Given the description of an element on the screen output the (x, y) to click on. 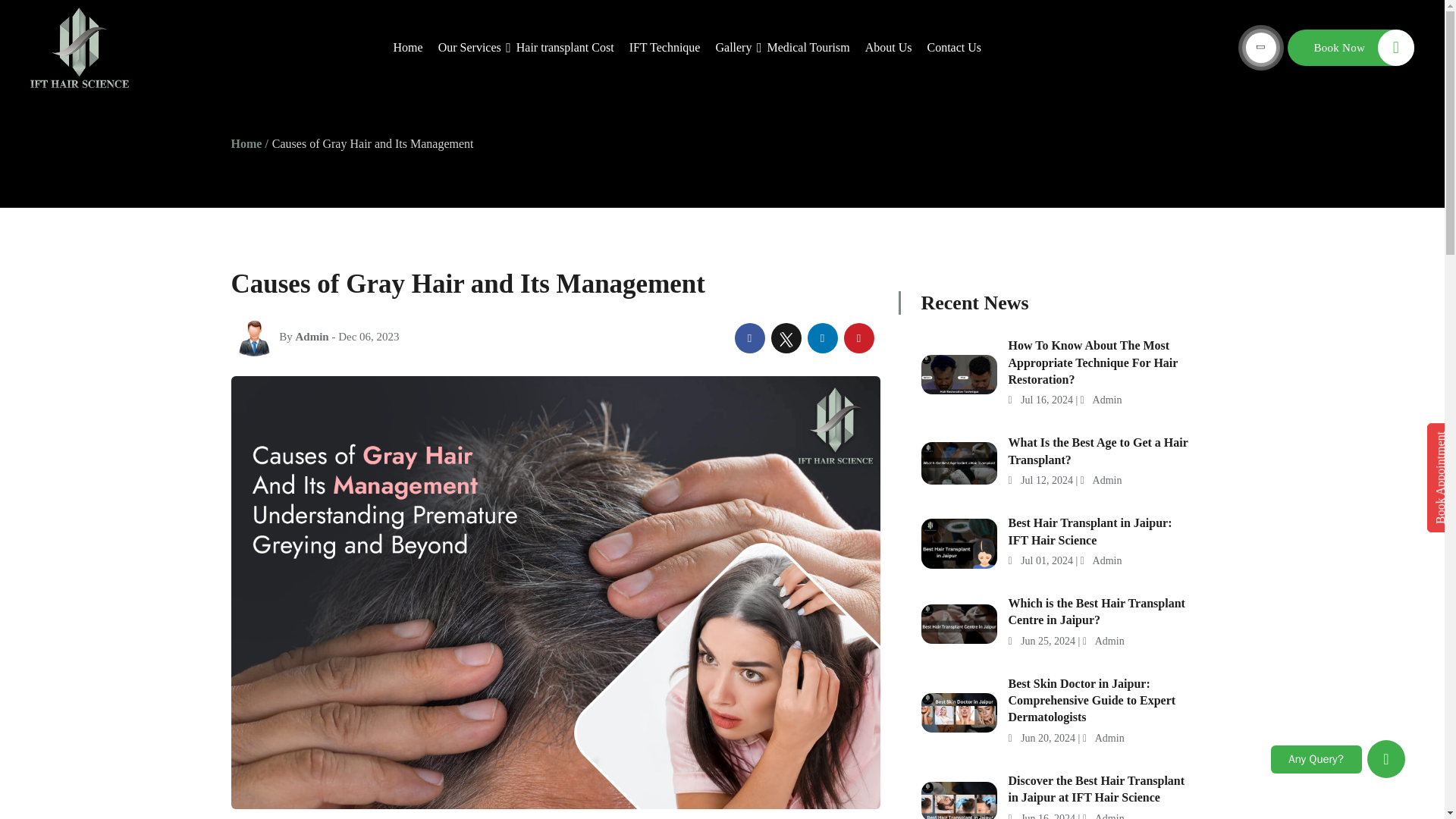
IFT Hair Science Logo (79, 47)
Hair transplant Cost (564, 47)
Contact Us (949, 47)
Our Services (469, 47)
Book Now (1350, 47)
Gallery (732, 47)
Hair Restoration (469, 47)
IFT Technique (664, 47)
About Us (888, 47)
Gallery (732, 47)
Medical Tourism (807, 47)
IFT Technique (664, 47)
